Given the description of an element on the screen output the (x, y) to click on. 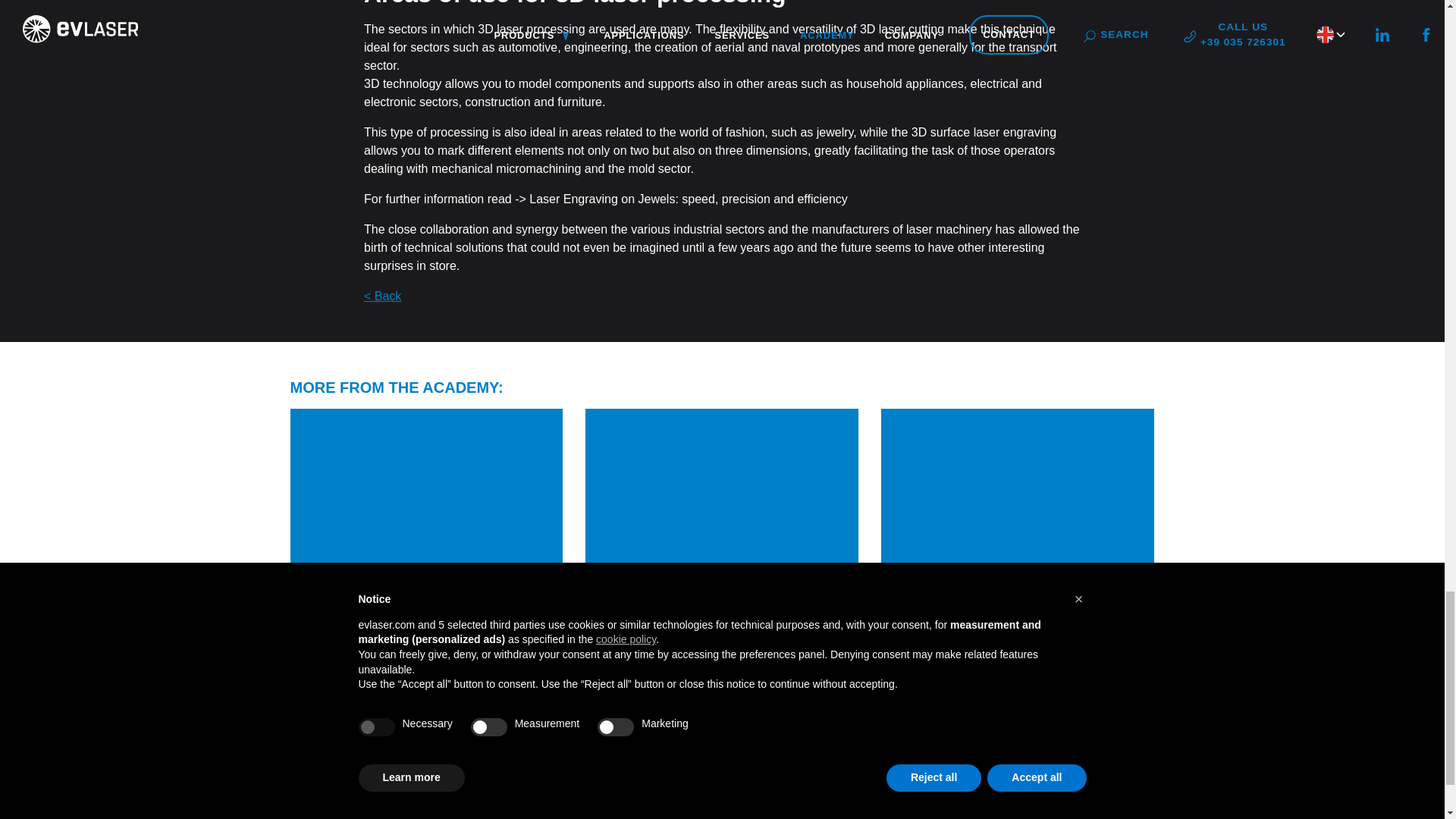
Laser Engraving (777, 800)
Laser Welding (771, 816)
Laser Marking (771, 782)
Conditions (1127, 804)
